Given the description of an element on the screen output the (x, y) to click on. 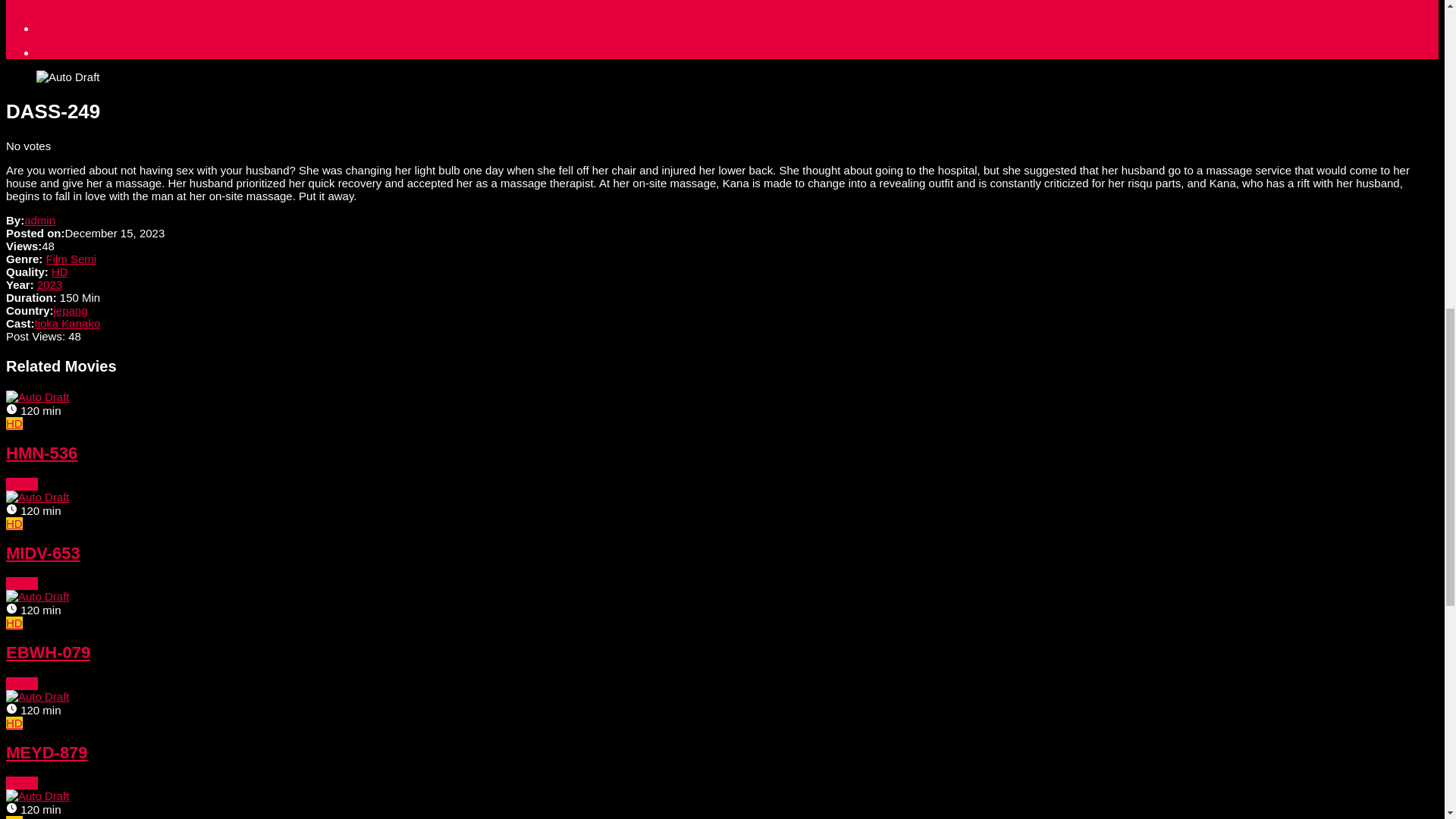
Turn off light (74, 28)
2023 (49, 284)
Turn off light (74, 28)
Permalink to: HMN-536 (21, 483)
Permalink to: HMN-536 (41, 452)
Permalink to: MIDV-653 (37, 496)
Auto Draft (68, 76)
Film Semi (71, 258)
Server 1 (58, 51)
HD (59, 271)
Permalink to: admin (39, 219)
admin (39, 219)
Permalink to: HMN-536 (37, 396)
